Given the description of an element on the screen output the (x, y) to click on. 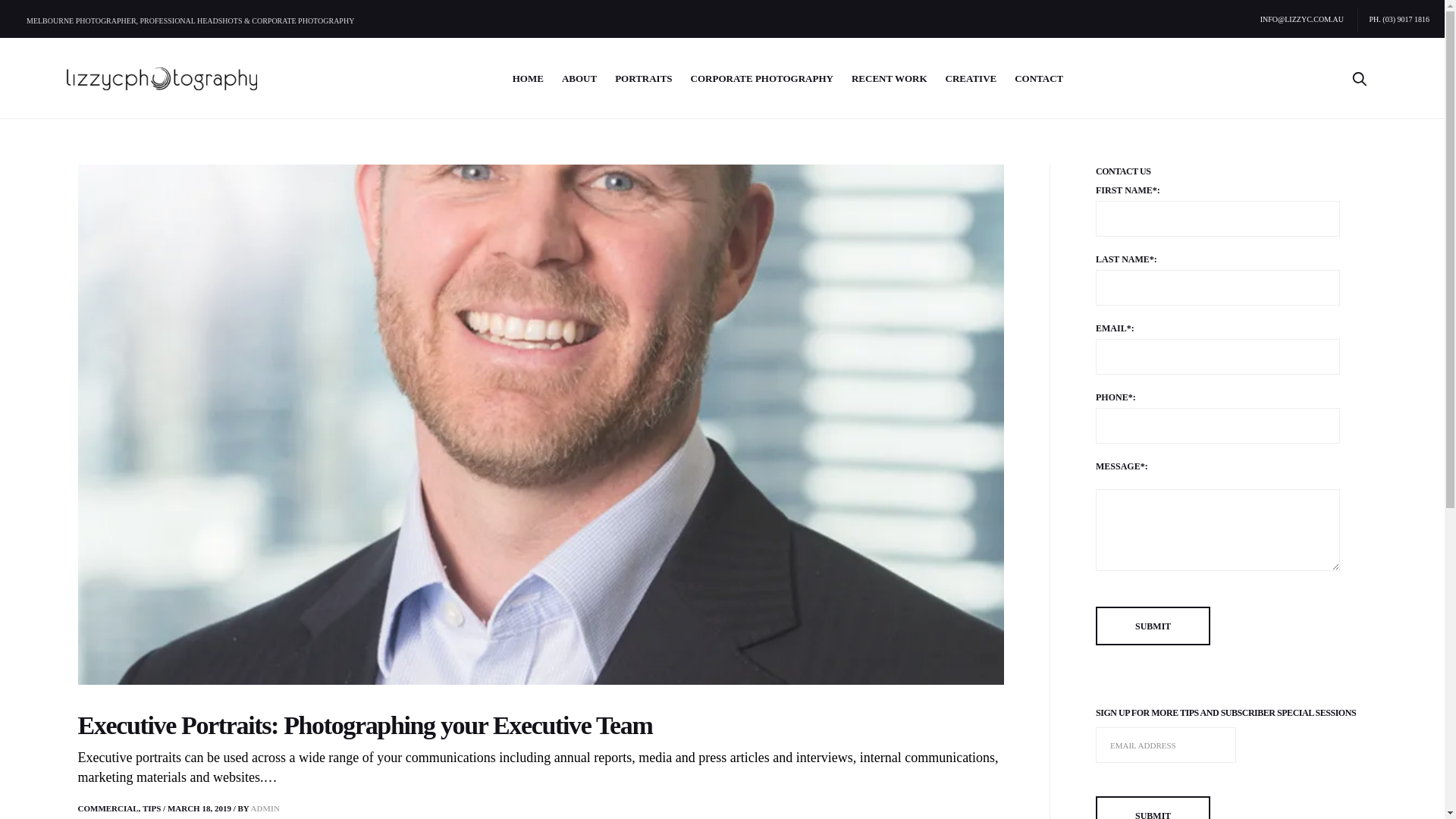
ADMIN Element type: text (265, 807)
INFO@LIZZYC.COM.AU Element type: text (1301, 19)
CORPORATE PHOTOGRAPHY Element type: text (761, 78)
Executive Portraits: Photographing your Executive Team Element type: hover (540, 424)
RECENT WORK Element type: text (889, 78)
Submit Element type: text (1152, 625)
PH. (03) 9017 1816 Element type: text (1393, 19)
CONTACT Element type: text (1038, 78)
CREATIVE Element type: text (971, 78)
HOME Element type: text (527, 78)
COMMERCIAL Element type: text (107, 807)
TIPS Element type: text (151, 807)
Executive Portraits: Photographing your Executive Team Element type: text (364, 725)
PORTRAITS Element type: text (643, 78)
ABOUT Element type: text (578, 78)
